Given the description of an element on the screen output the (x, y) to click on. 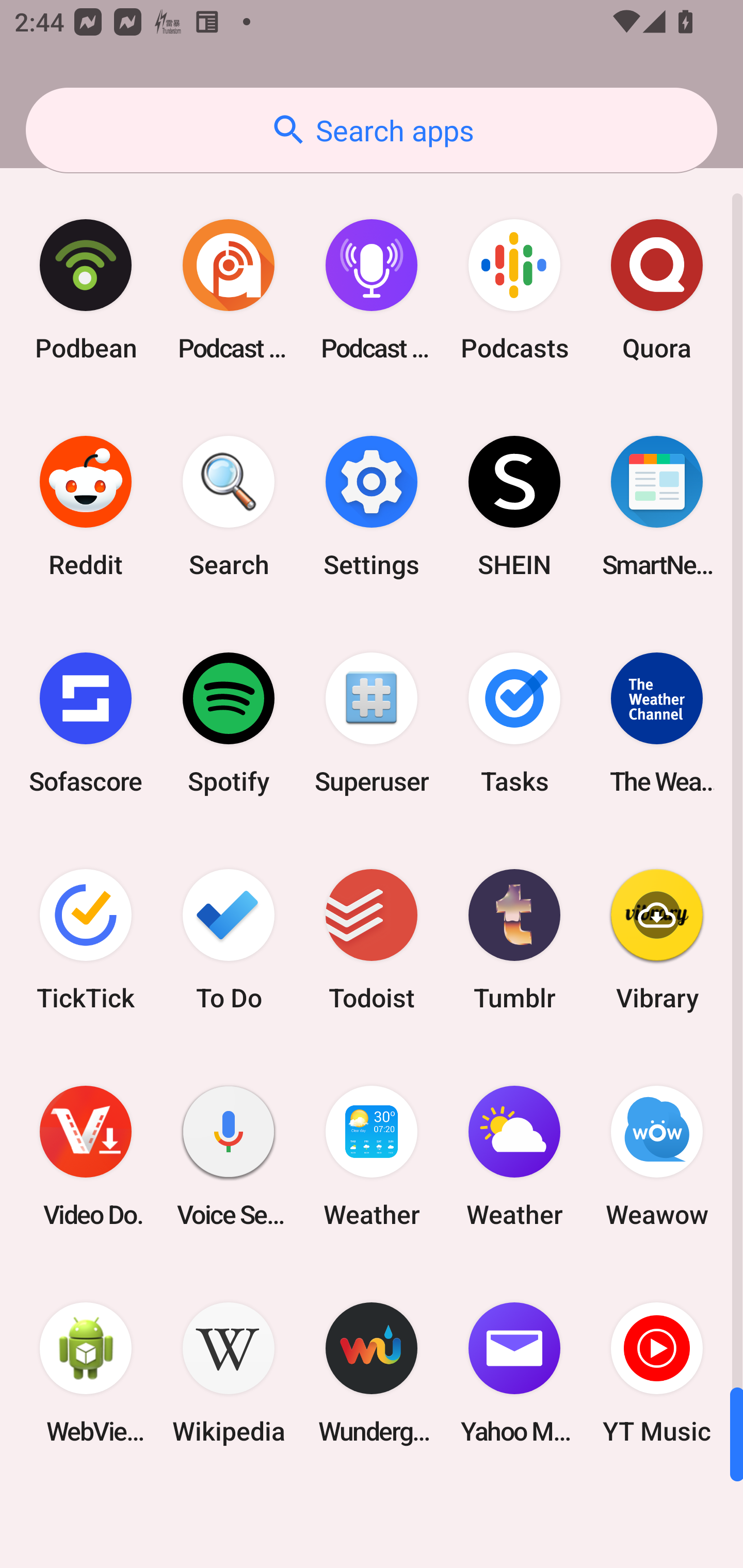
  Search apps (371, 130)
Podbean (85, 289)
Podcast Addict (228, 289)
Podcast Player (371, 289)
Podcasts (514, 289)
Quora (656, 289)
Reddit (85, 506)
Search (228, 506)
Settings (371, 506)
SHEIN (514, 506)
SmartNews (656, 506)
Sofascore (85, 722)
Spotify (228, 722)
Superuser (371, 722)
Tasks (514, 722)
The Weather Channel (656, 722)
TickTick (85, 939)
To Do (228, 939)
Todoist (371, 939)
Tumblr (514, 939)
Vibrary (656, 939)
Video Downloader & Ace Player (85, 1156)
Voice Search (228, 1156)
Weather (371, 1156)
Weather (514, 1156)
Weawow (656, 1156)
WebView Browser Tester (85, 1373)
Wikipedia (228, 1373)
Wunderground (371, 1373)
Yahoo Mail (514, 1373)
YT Music (656, 1373)
